Given the description of an element on the screen output the (x, y) to click on. 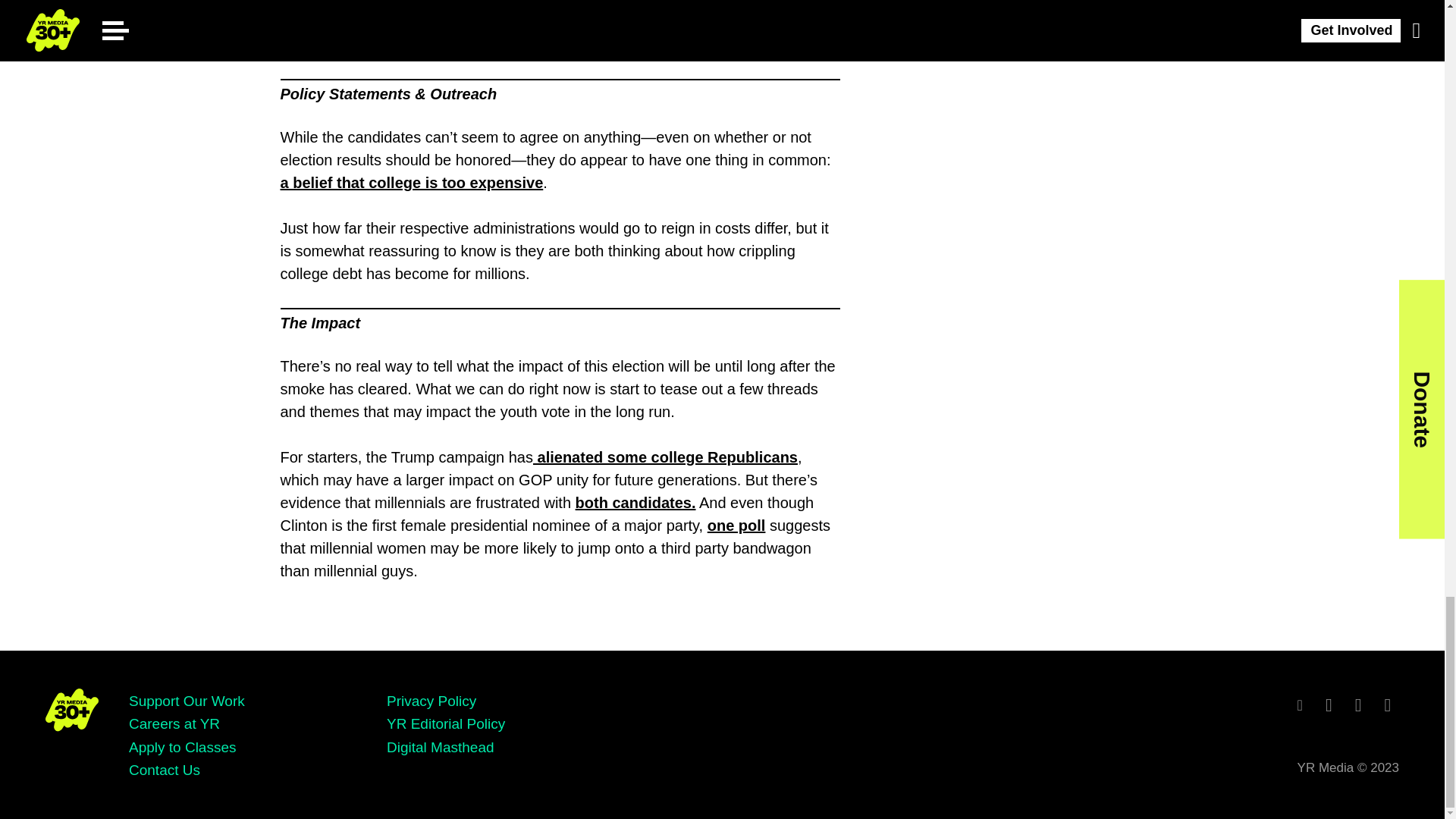
a belief that college is too expensive (412, 182)
 alienated some college Republicans (664, 457)
one poll (736, 524)
both candidates. (635, 502)
